Given the description of an element on the screen output the (x, y) to click on. 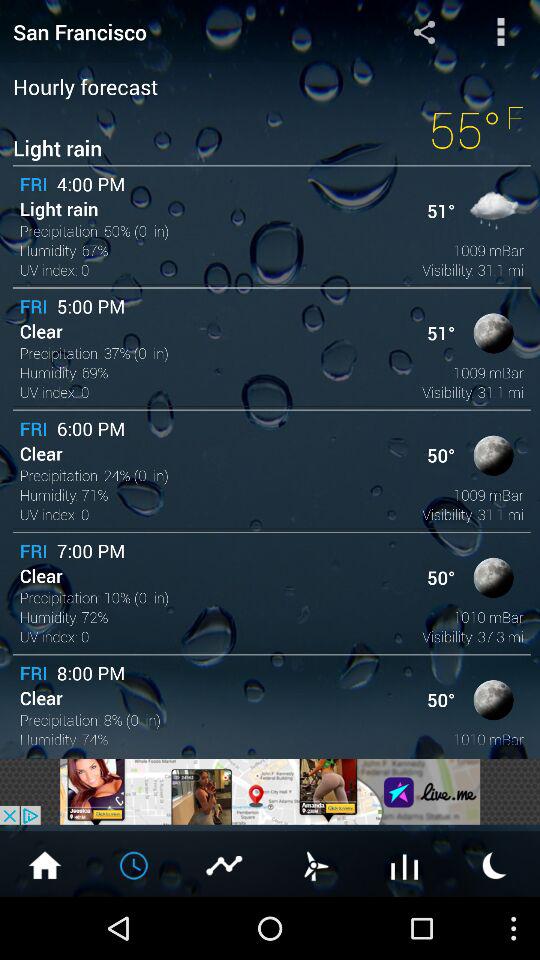
advertisement space (270, 791)
